Given the description of an element on the screen output the (x, y) to click on. 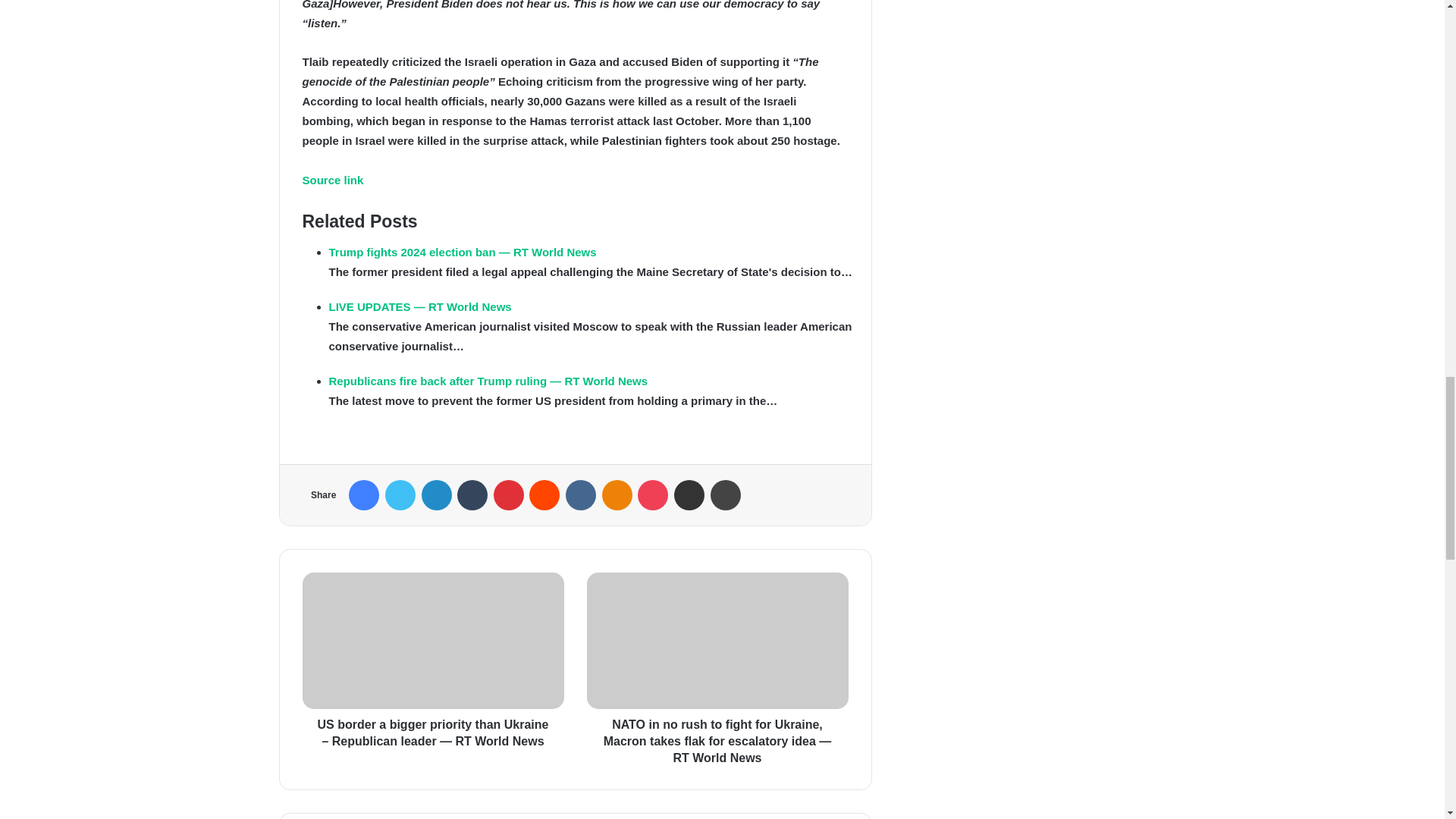
Pocket (652, 494)
Source link (331, 179)
Tumblr (472, 494)
Odnoklassniki (616, 494)
Facebook (363, 494)
Facebook (363, 494)
VKontakte (580, 494)
Twitter (399, 494)
LinkedIn (436, 494)
Pinterest (508, 494)
Print (725, 494)
Share via Email (689, 494)
LinkedIn (436, 494)
Twitter (399, 494)
Reddit (544, 494)
